Given the description of an element on the screen output the (x, y) to click on. 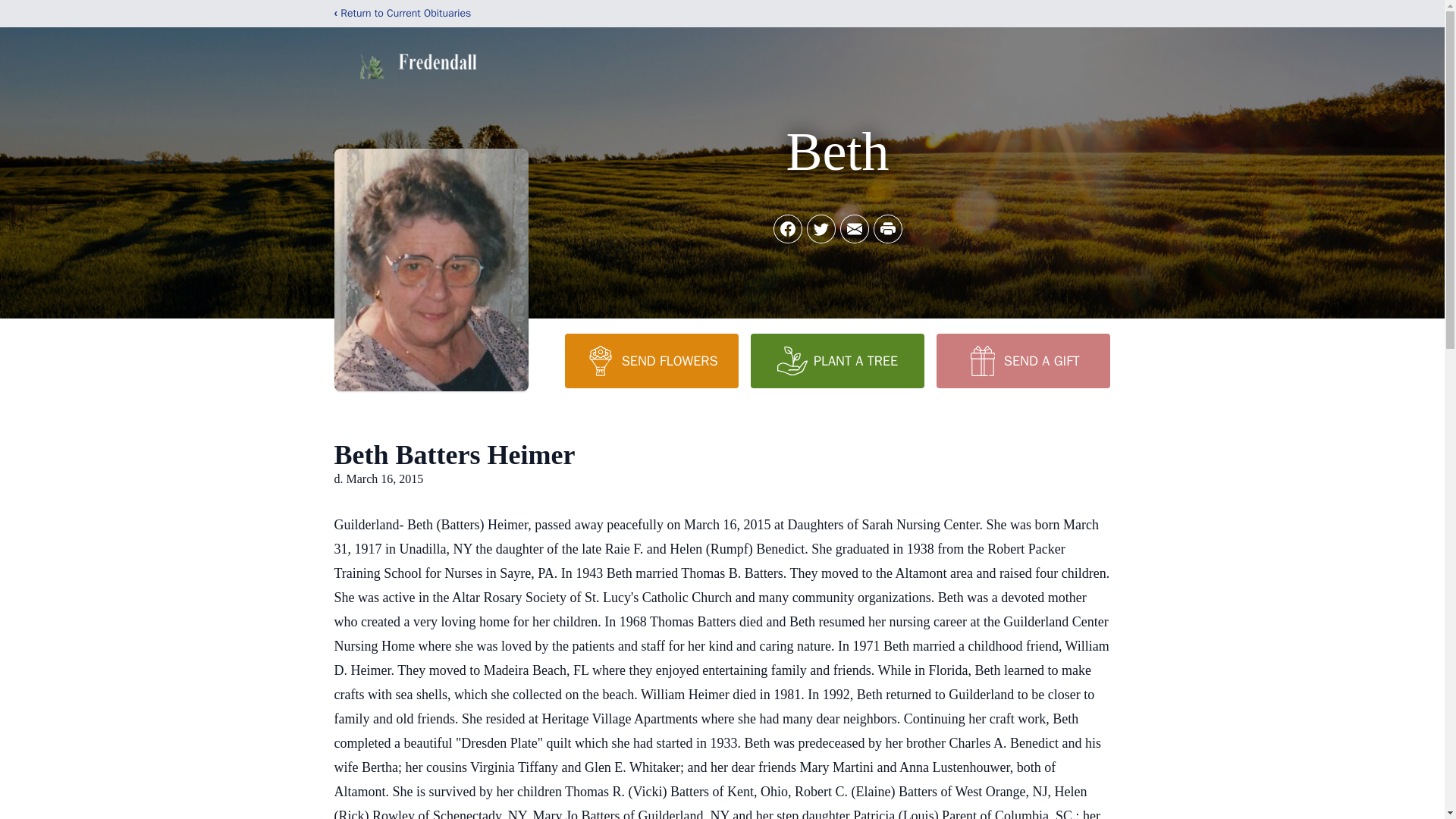
SEND A GIFT (1022, 360)
SEND FLOWERS (651, 360)
PLANT A TREE (837, 360)
